Given the description of an element on the screen output the (x, y) to click on. 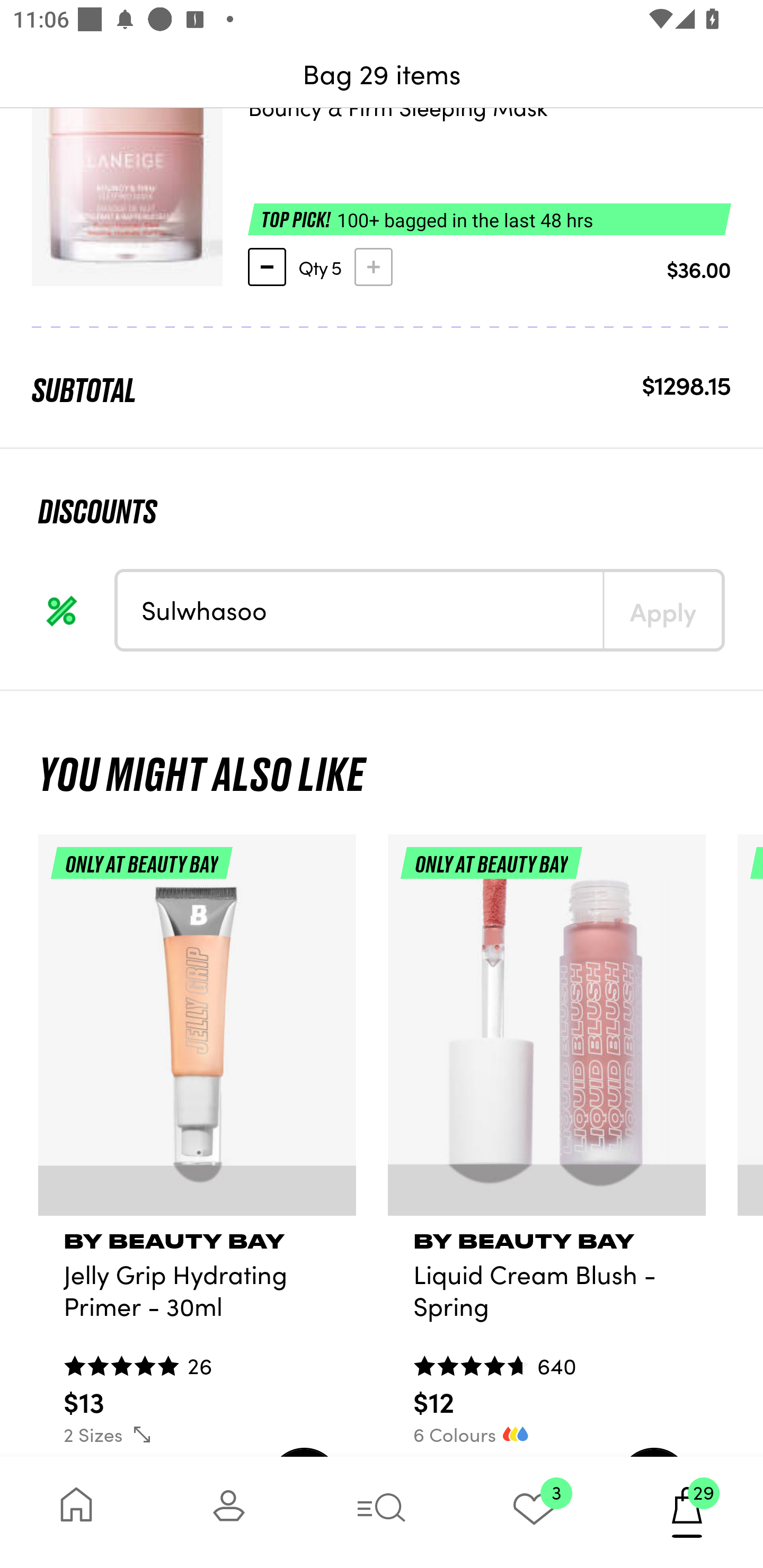
Sulwhasoo (360, 610)
Apply (661, 610)
ONLY AT BEAUTY BAY (197, 1032)
ONLY AT BEAUTY BAY (546, 1032)
3 (533, 1512)
29 (686, 1512)
